Given the description of an element on the screen output the (x, y) to click on. 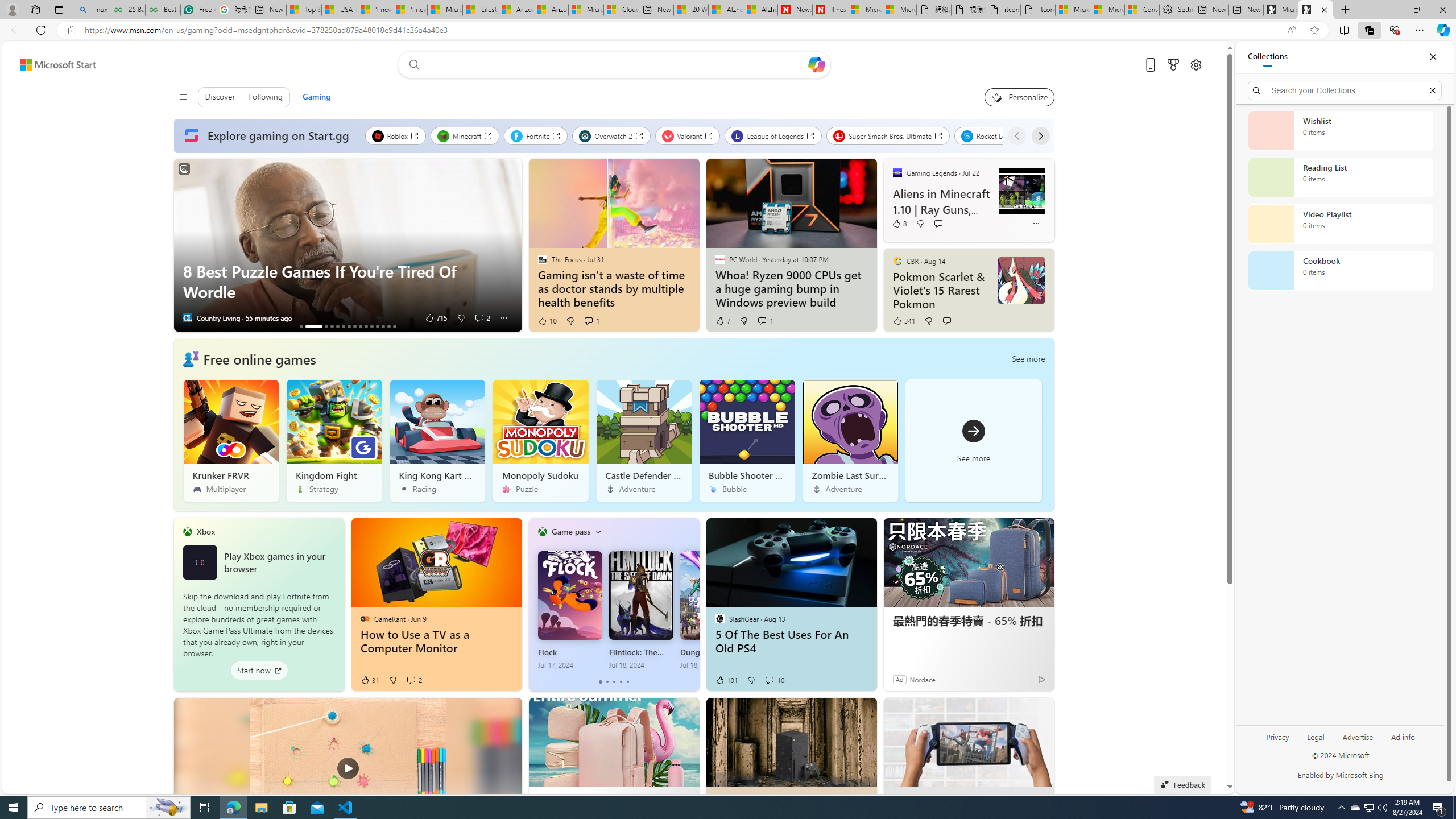
Xbox Logo (199, 562)
King Kong Kart Racing (437, 440)
Personalize your feed" (1019, 97)
Class: background-image-ntp-v2 (850, 422)
Next slide (512, 245)
341 Like (904, 320)
Best SSL Certificates Provider in India - GeeksforGeeks (161, 9)
Newsweek - News, Analysis, Politics, Business, Technology (794, 9)
SlashGear (719, 618)
Zombie Last Survivor (850, 440)
